Given the description of an element on the screen output the (x, y) to click on. 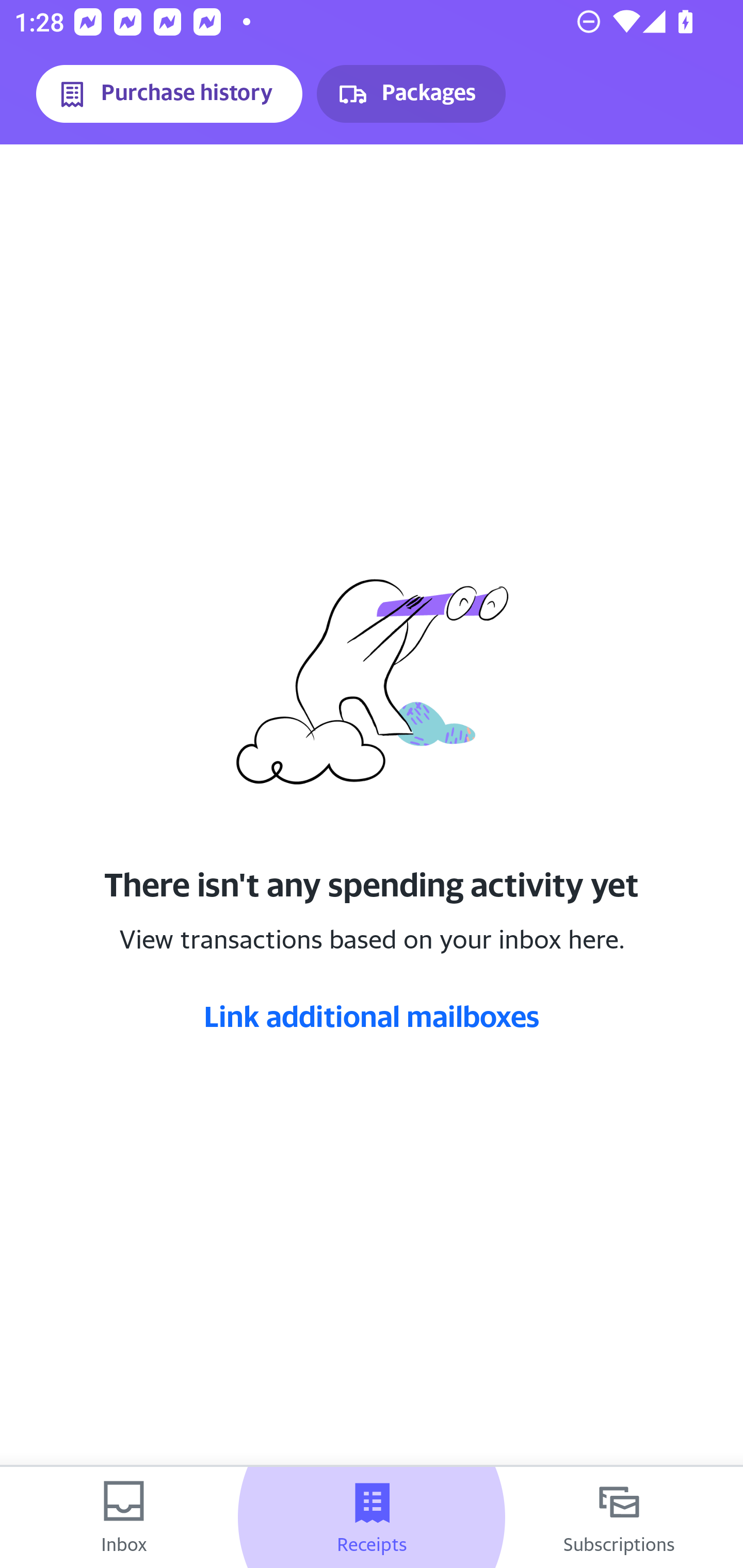
Packages (410, 93)
Link additional mailboxes (371, 1015)
Inbox (123, 1517)
Receipts (371, 1517)
Subscriptions (619, 1517)
